Given the description of an element on the screen output the (x, y) to click on. 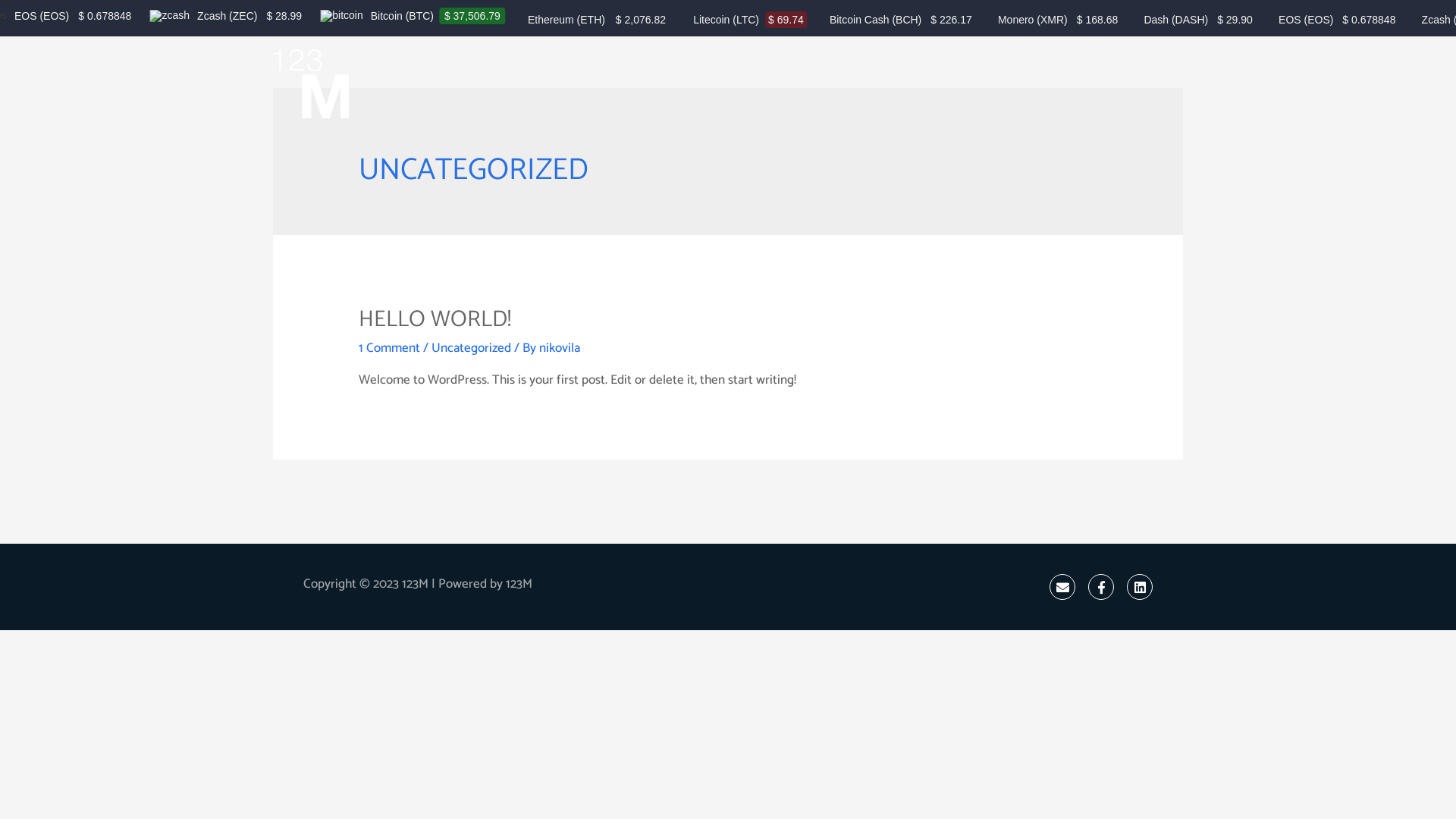
HELLO WORLD! Element type: text (434, 319)
nikovila Element type: text (559, 347)
Uncategorized Element type: text (471, 347)
1 Comment Element type: text (389, 347)
